Given the description of an element on the screen output the (x, y) to click on. 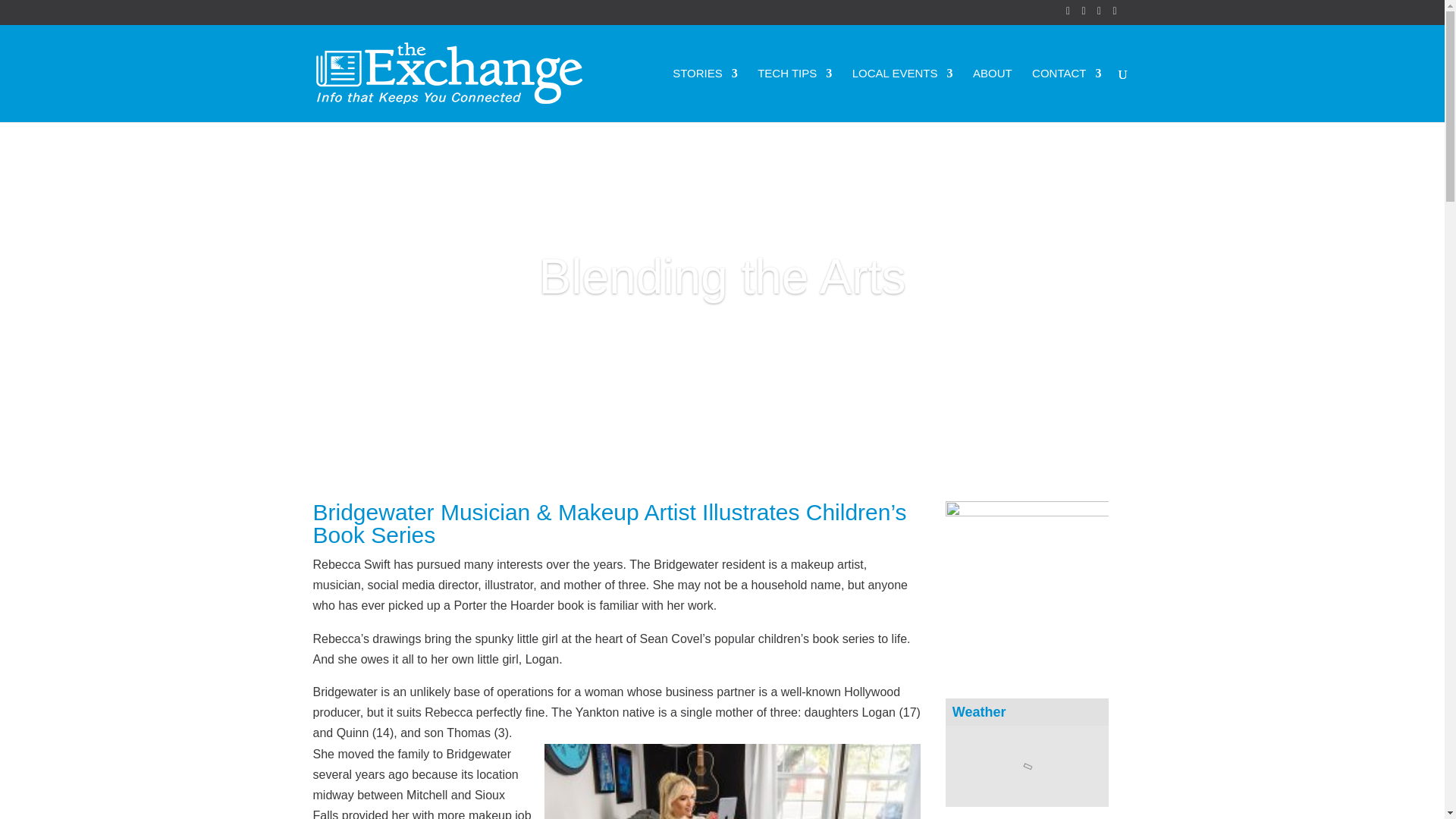
TECH TIPS (794, 94)
CONTACT (1066, 94)
LOCAL EVENTS (902, 94)
STORIES (705, 94)
